Given the description of an element on the screen output the (x, y) to click on. 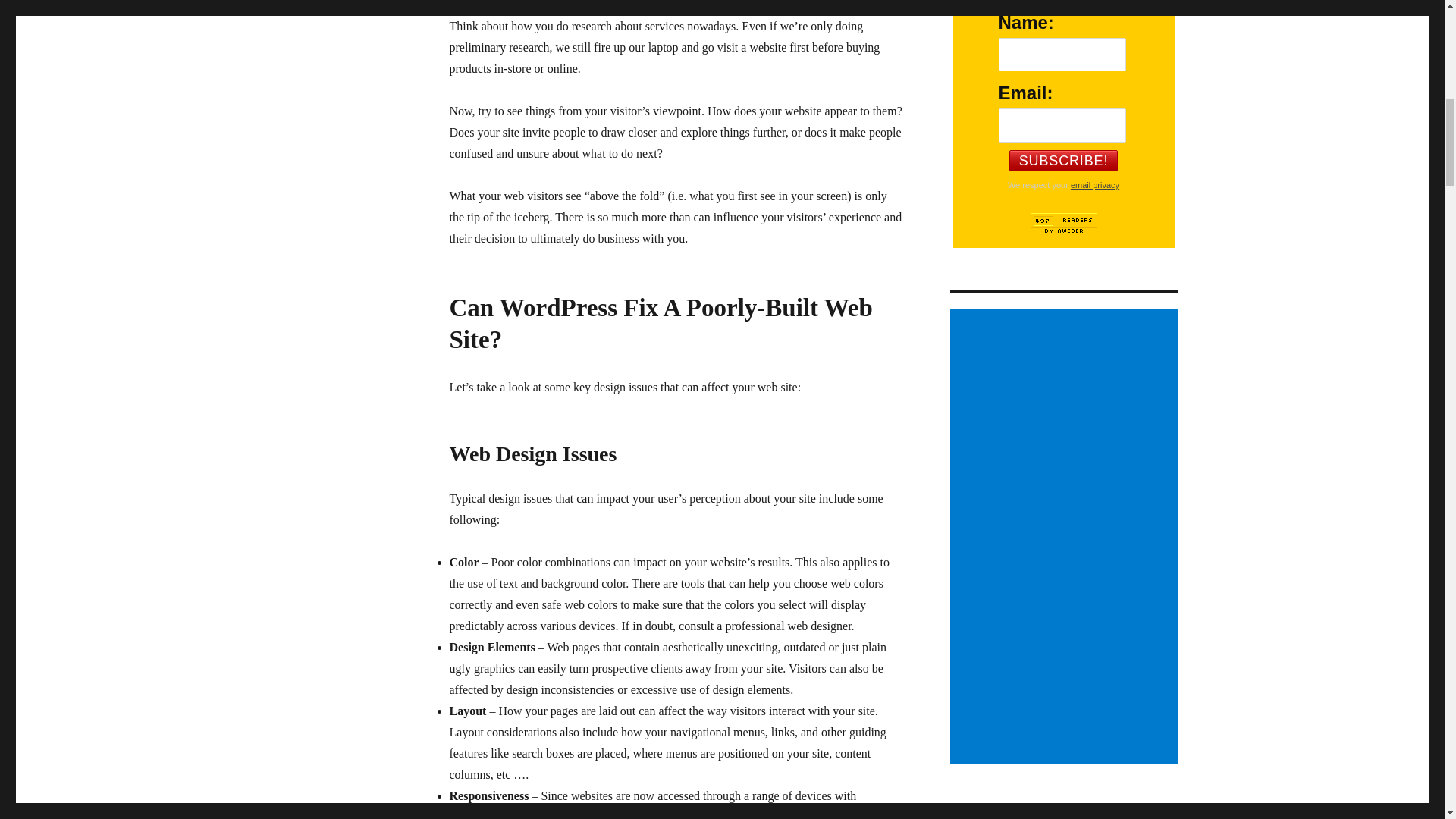
Privacy Policy (1094, 184)
Subscribe! (1063, 160)
Subscribe! (1063, 160)
